Given the description of an element on the screen output the (x, y) to click on. 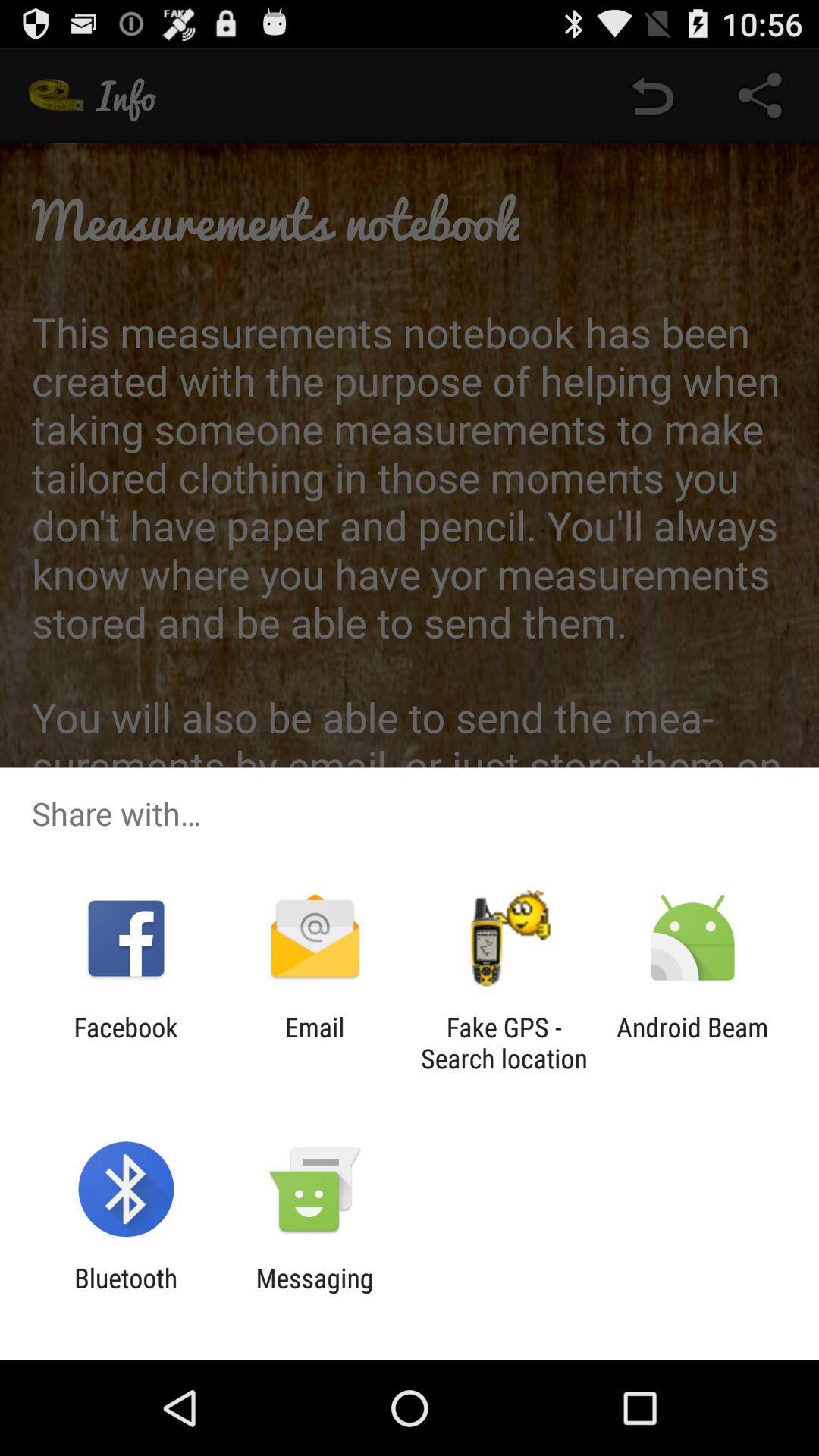
turn off the app to the right of the facebook (314, 1042)
